Given the description of an element on the screen output the (x, y) to click on. 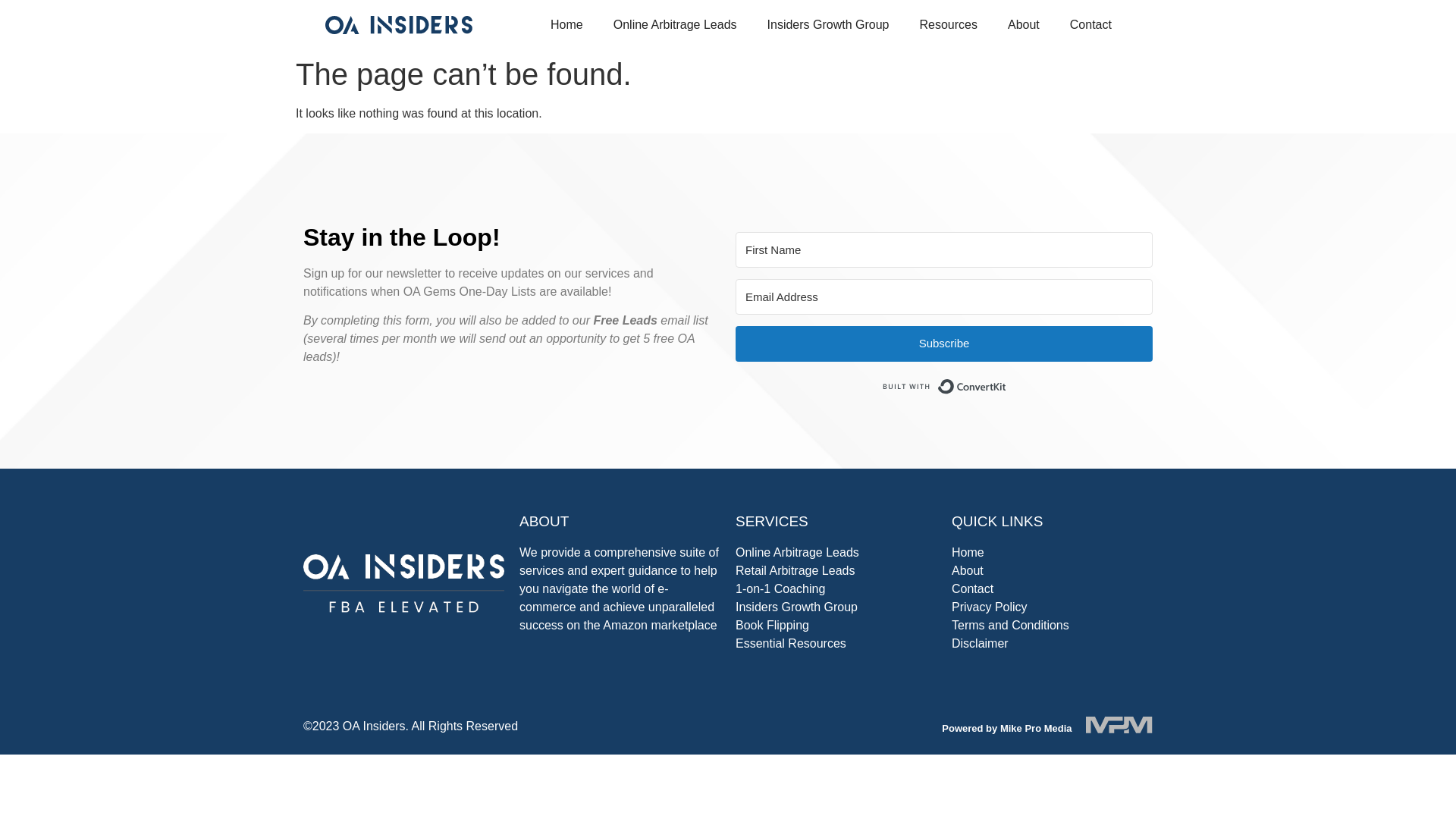
Insiders Growth Group (796, 606)
Disclaimer (980, 643)
Subscribe (944, 343)
Home (566, 24)
Essential Resources (790, 643)
Resources (947, 24)
Home (968, 552)
Insiders Growth Group (828, 24)
Built with ConvertKit (943, 386)
About (968, 570)
